Given the description of an element on the screen output the (x, y) to click on. 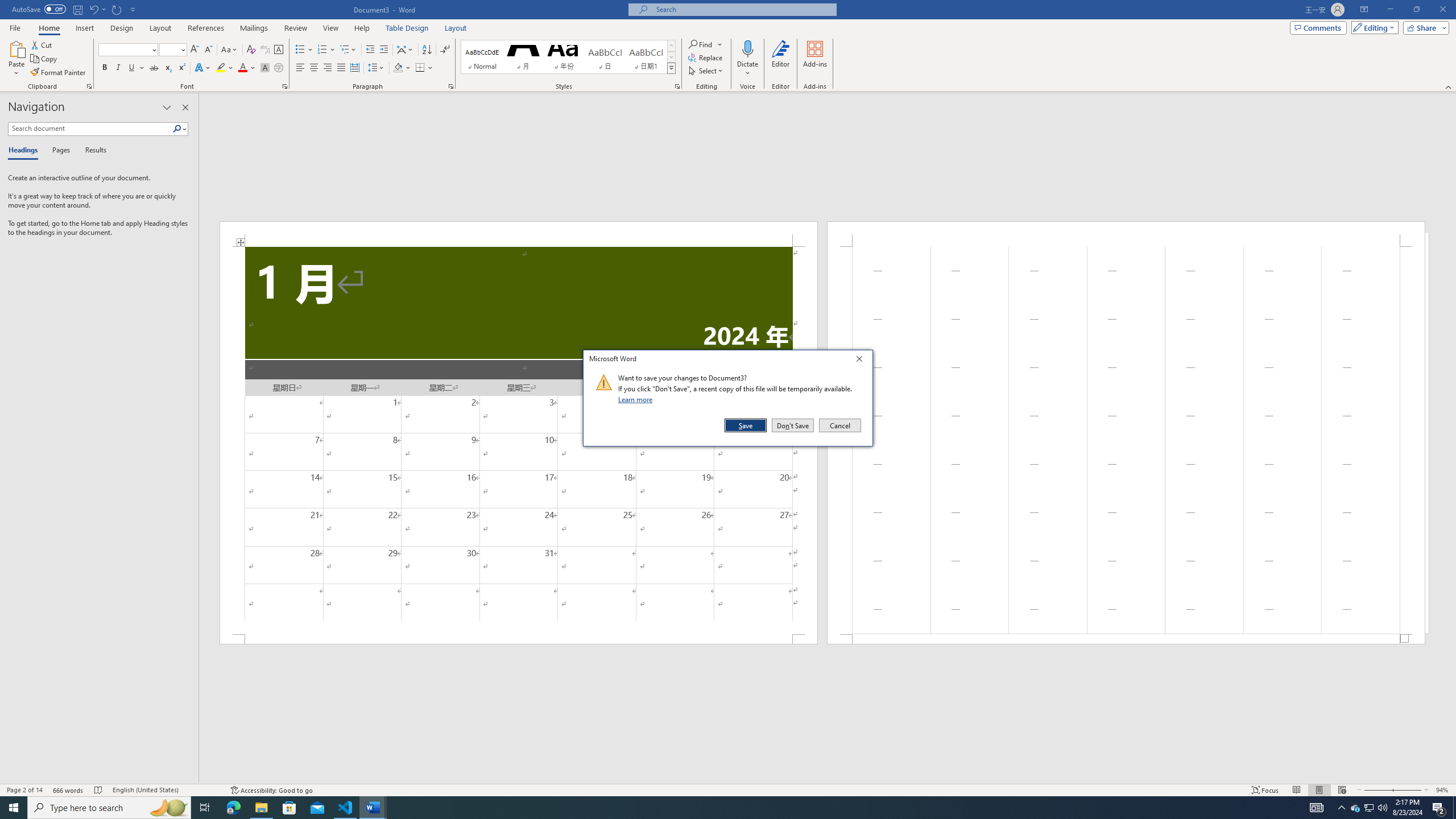
Page Number Page 2 of 14 (24, 790)
Microsoft Edge (233, 807)
Font Color RGB(255, 0, 0) (241, 67)
